Given the description of an element on the screen output the (x, y) to click on. 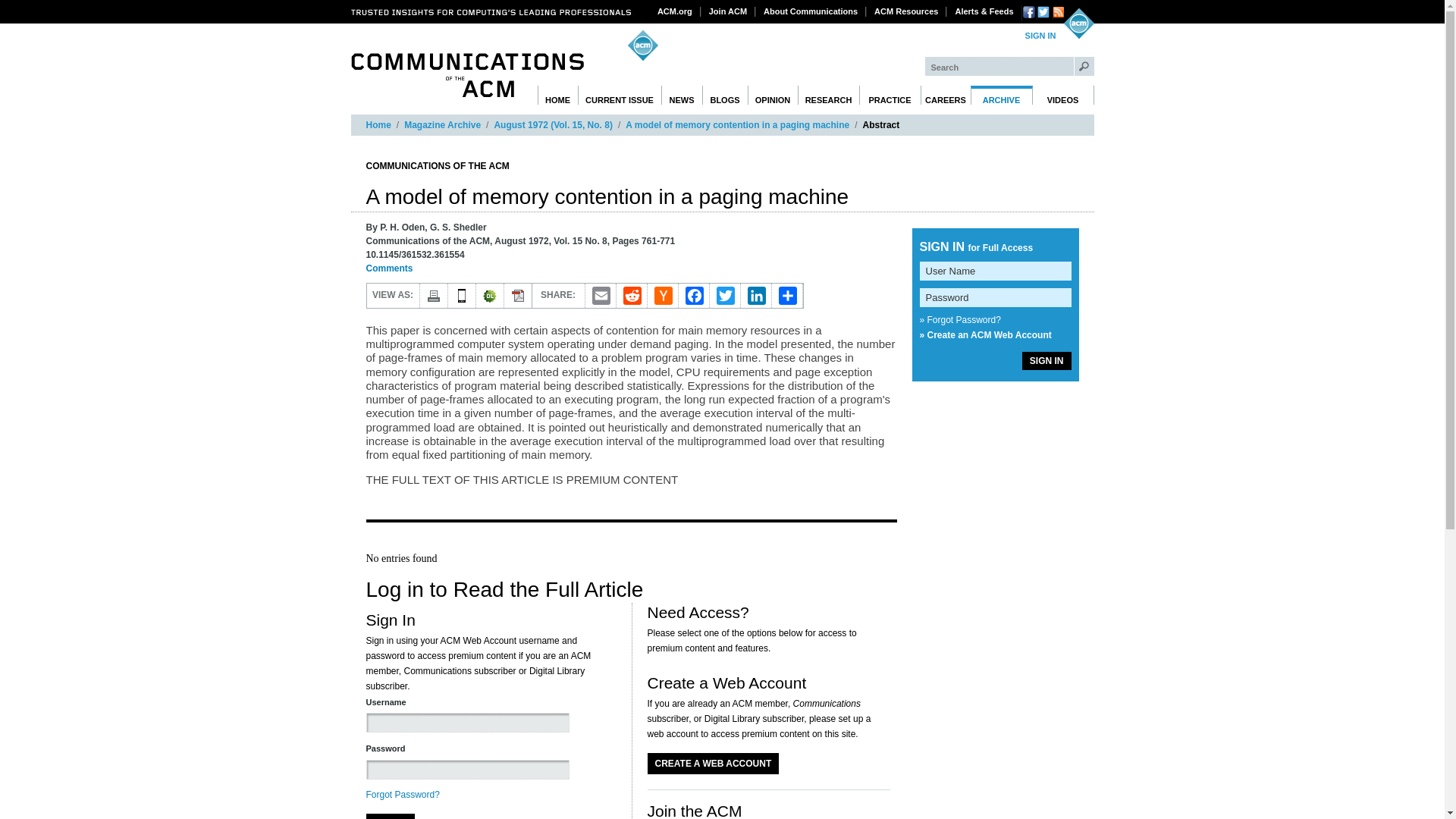
ACM.org (674, 11)
RESEARCH (828, 94)
ACM.org (674, 11)
ACM (1077, 23)
Login (1041, 35)
Communications of the ACM (466, 75)
View in ACM Digital Library (489, 295)
ACM Resources (906, 11)
ACM Resources (906, 11)
Communications of the ACM (466, 75)
